Given the description of an element on the screen output the (x, y) to click on. 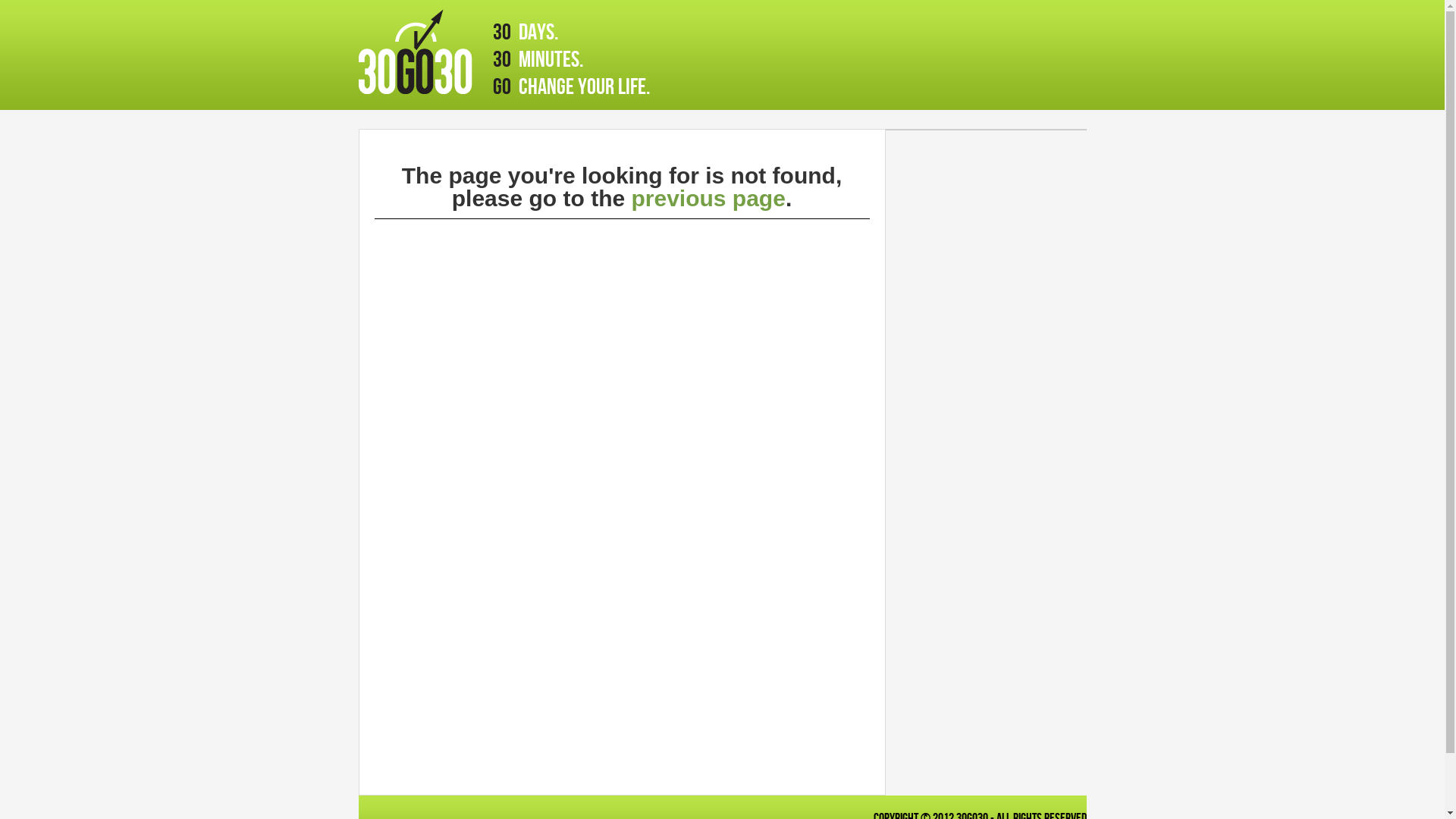
previous page Element type: text (707, 197)
30go30 Element type: text (414, 51)
